Given the description of an element on the screen output the (x, y) to click on. 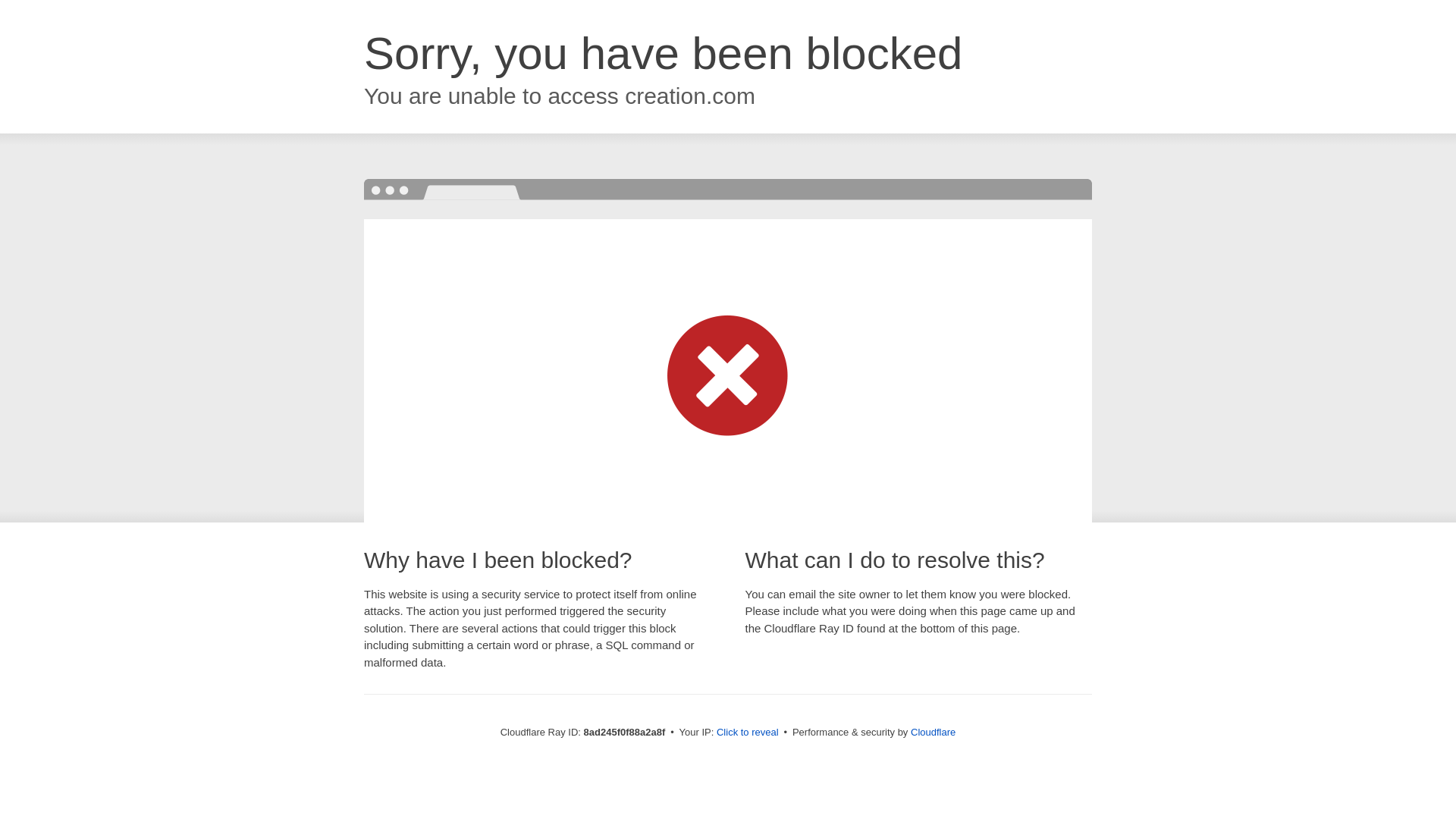
Click to reveal (747, 732)
Cloudflare (933, 731)
